Given the description of an element on the screen output the (x, y) to click on. 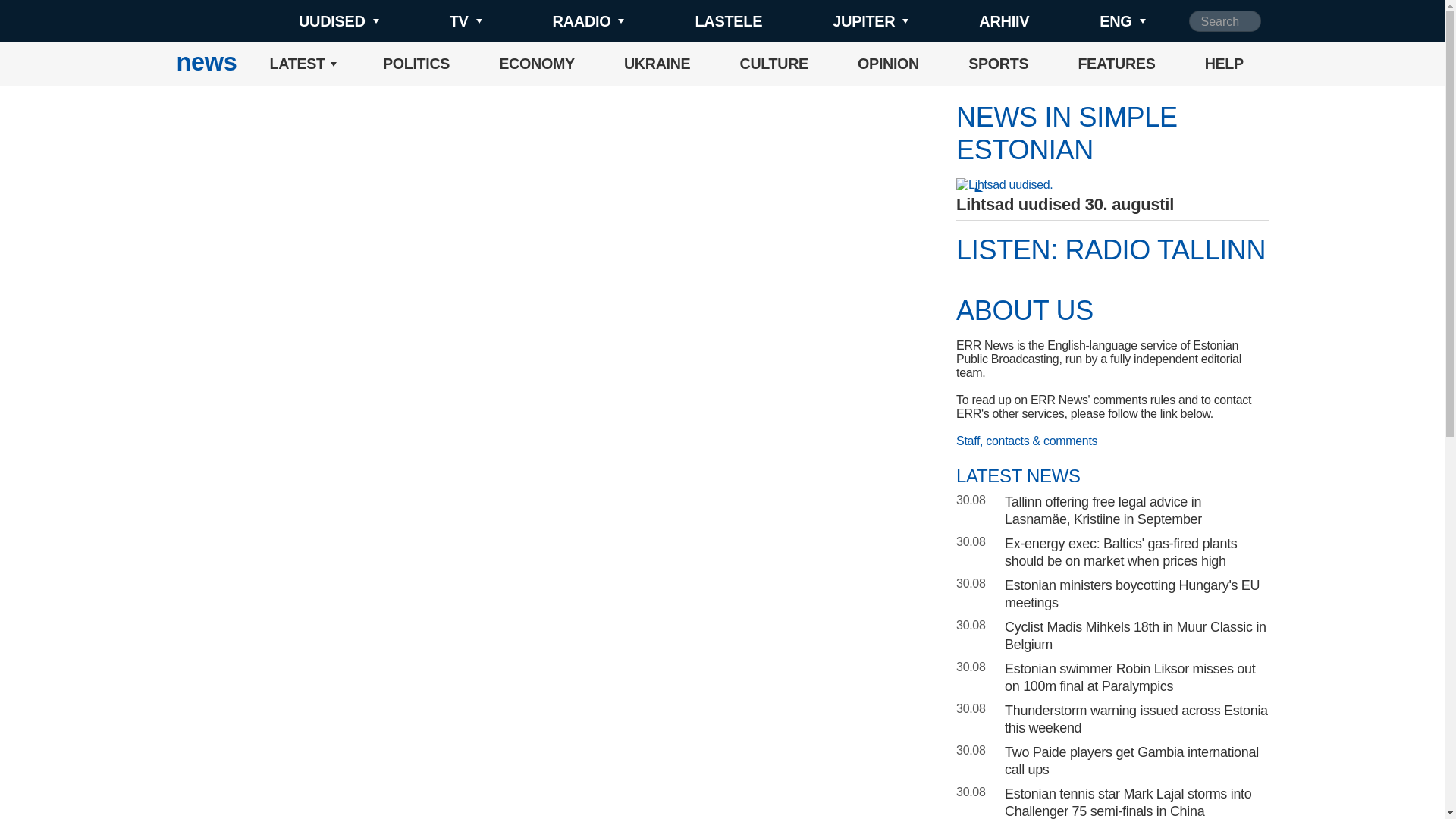
UUDISED (314, 21)
RAADIO (563, 21)
Avalehele (205, 63)
TV (440, 21)
